Given the description of an element on the screen output the (x, y) to click on. 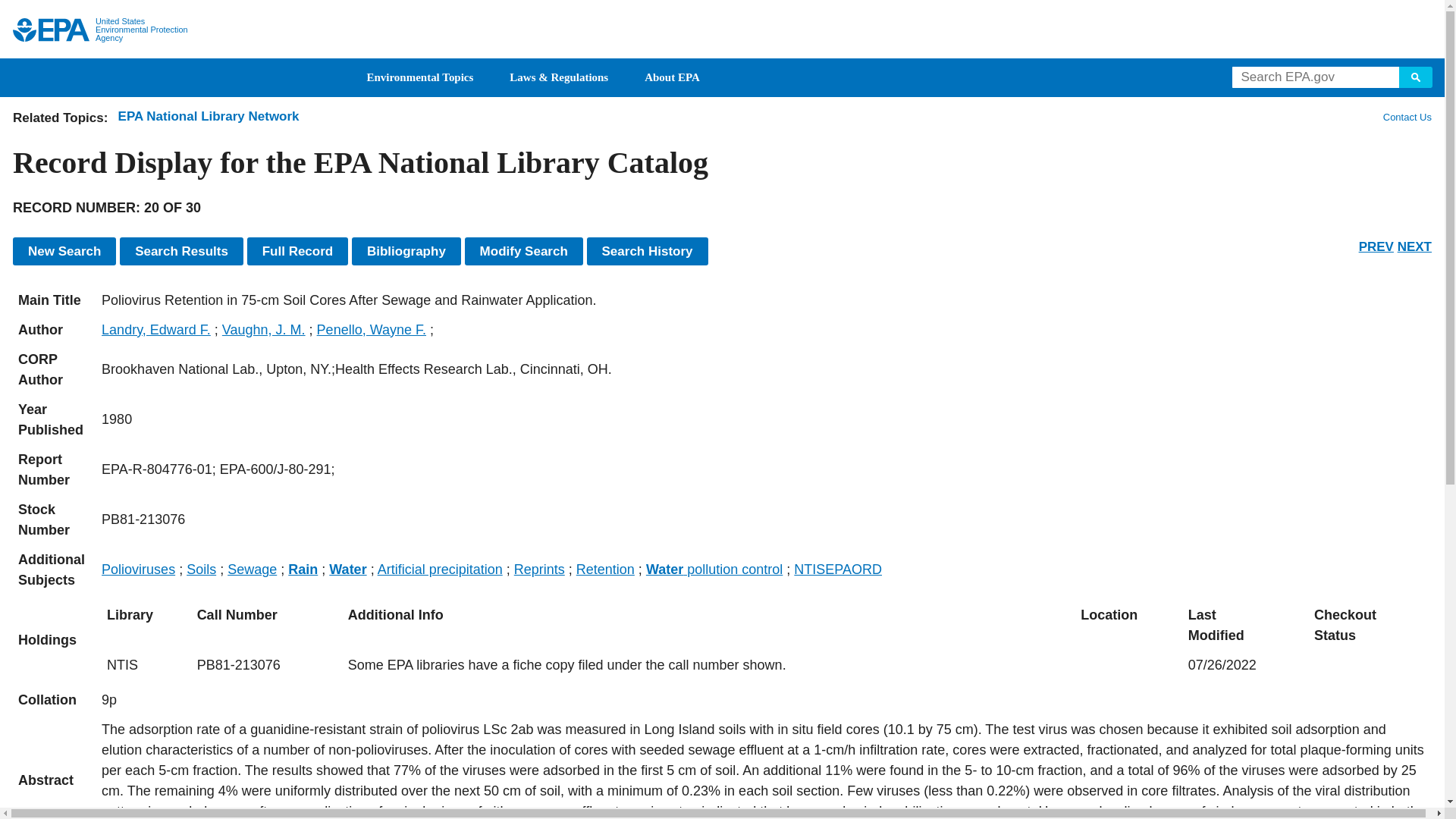
Search (1415, 76)
Landry, Edward F. (156, 329)
Your Search History (646, 251)
Create a New Search (64, 251)
Soils (200, 569)
Go to the home page (50, 29)
Search Results (181, 251)
Modify Search (523, 251)
Vaughn, J. M. (263, 329)
